Given the description of an element on the screen output the (x, y) to click on. 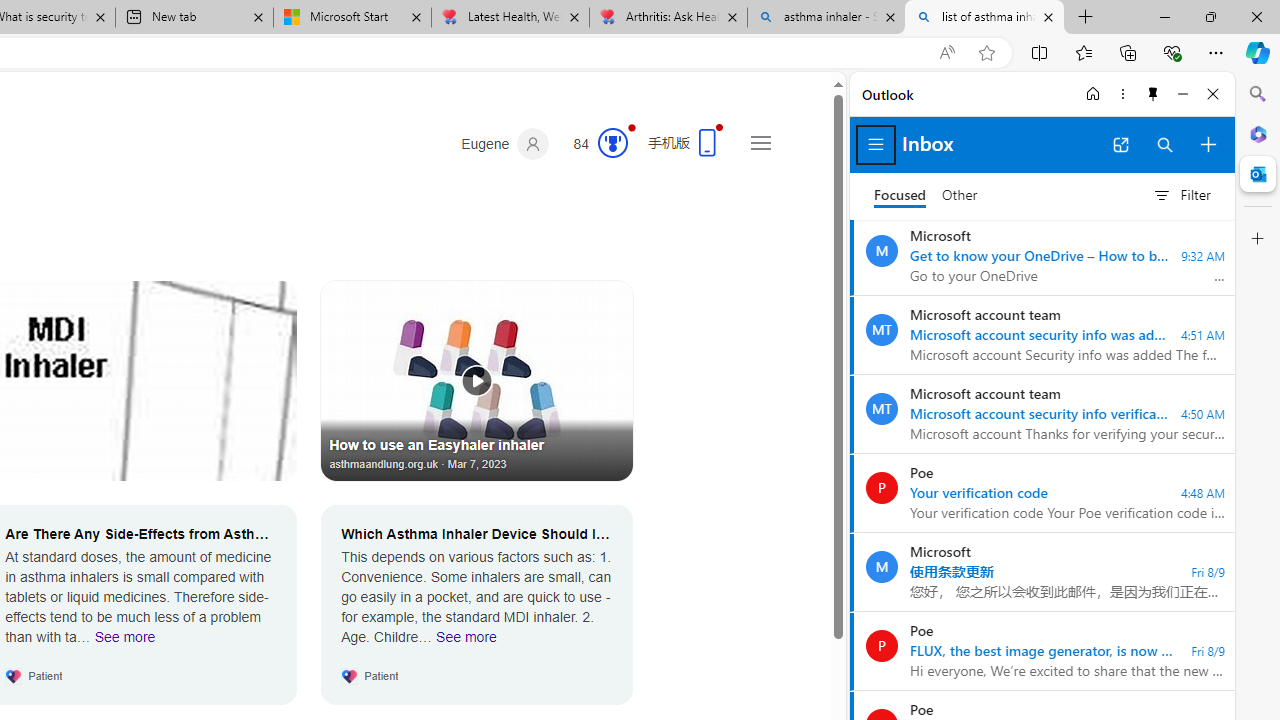
Microsoft Rewards 84 (594, 143)
Open in new tab (1120, 144)
Focused (900, 195)
Focused Inbox, toggle to go to Other Inbox (925, 195)
